Given the description of an element on the screen output the (x, y) to click on. 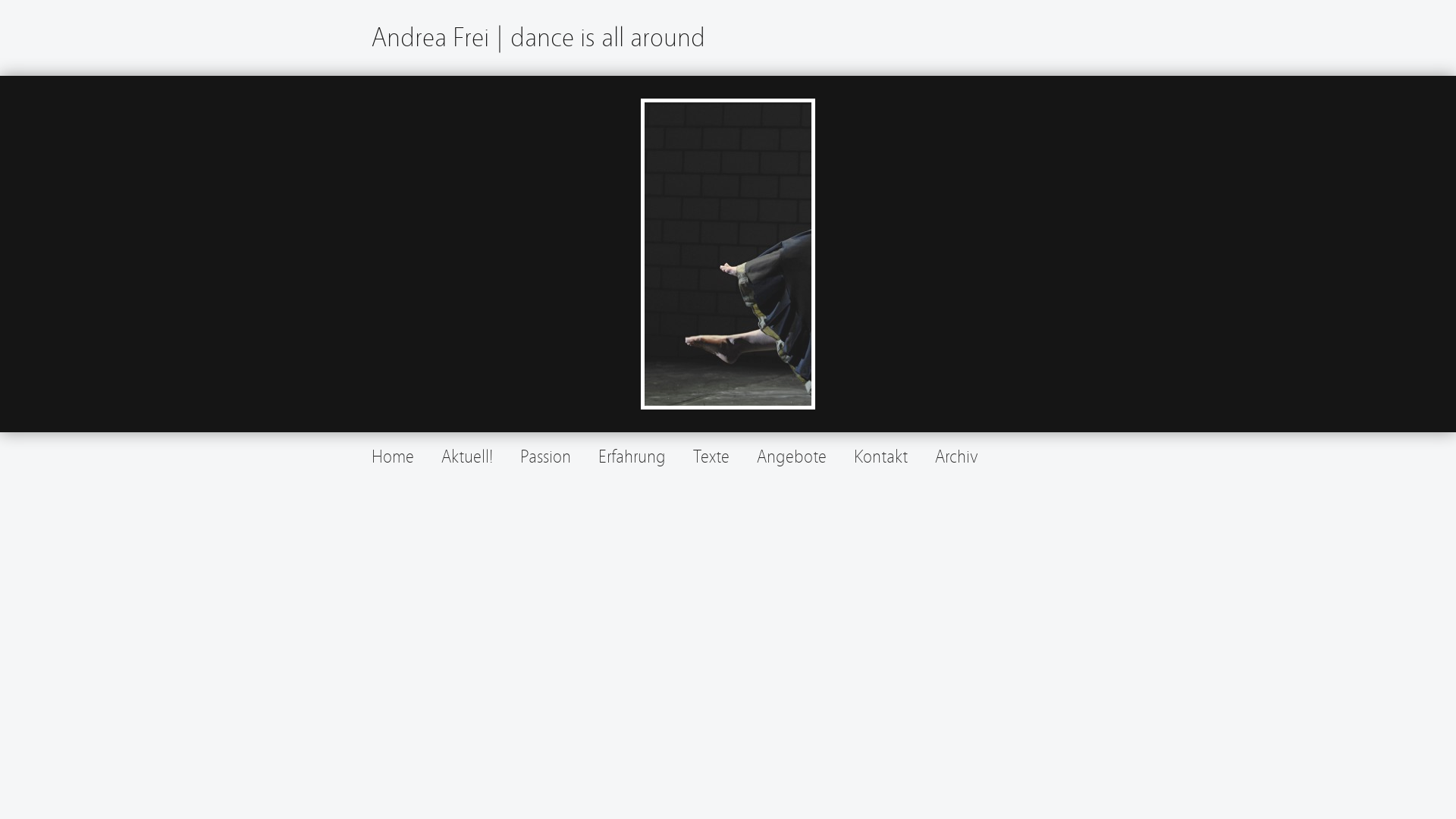
Angebote Element type: text (791, 457)
Passion Element type: text (545, 457)
Archiv Element type: text (956, 457)
Aktuell! Element type: text (466, 457)
Kontakt Element type: text (880, 457)
Andrea Frei | dance is all around Element type: text (538, 37)
Erfahrung Element type: text (631, 457)
Texte Element type: text (711, 457)
Home Element type: text (392, 457)
